Given the description of an element on the screen output the (x, y) to click on. 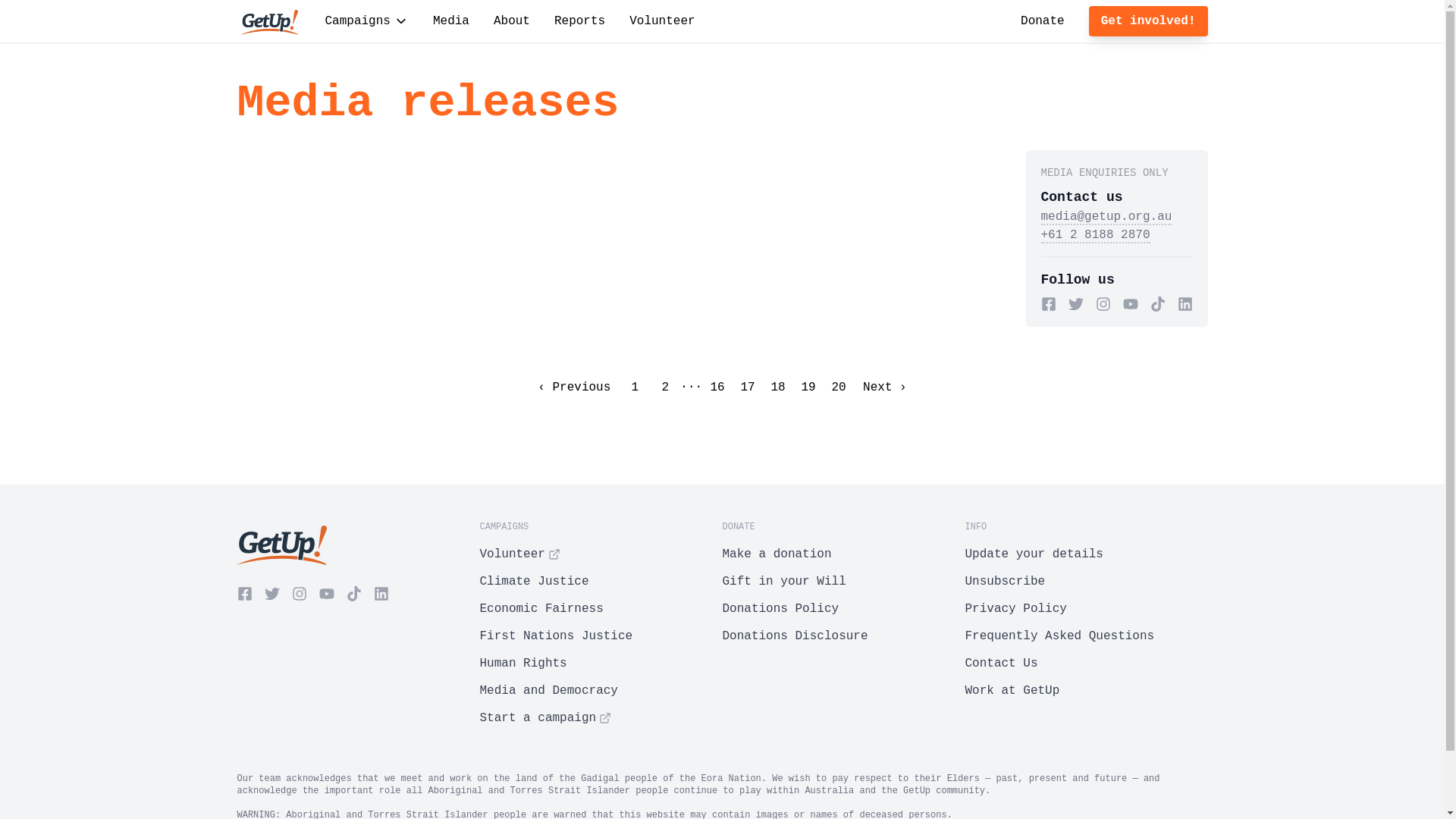
Media Element type: text (451, 21)
Volunteer Element type: text (600, 554)
Work at GetUp Element type: text (1085, 690)
1 Element type: text (634, 387)
Human Rights Element type: text (600, 663)
Start a campaign Element type: text (600, 718)
18 Element type: text (777, 387)
Donations Policy Element type: text (842, 608)
Reports Element type: text (579, 21)
media@getup.org.au Element type: text (1105, 217)
Campaigns Element type: text (365, 21)
Make a donation Element type: text (842, 554)
Update your details Element type: text (1085, 554)
Unsubscribe Element type: text (1085, 581)
Media and Democracy Element type: text (600, 690)
+61 2 8188 2870 Element type: text (1094, 235)
2 Element type: text (664, 387)
Donations Disclosure Element type: text (842, 636)
16 Element type: text (716, 387)
Contact Us Element type: text (1085, 663)
First Nations Justice Element type: text (600, 636)
Donate Element type: text (1042, 21)
Economic Fairness Element type: text (600, 608)
... Element type: text (691, 384)
Gift in your Will Element type: text (842, 581)
Frequently Asked Questions Element type: text (1085, 636)
Privacy Policy Element type: text (1085, 608)
About Element type: text (511, 21)
Climate Justice Element type: text (600, 581)
19 Element type: text (807, 387)
Volunteer Element type: text (661, 21)
17 Element type: text (747, 387)
20 Element type: text (838, 387)
